Given the description of an element on the screen output the (x, y) to click on. 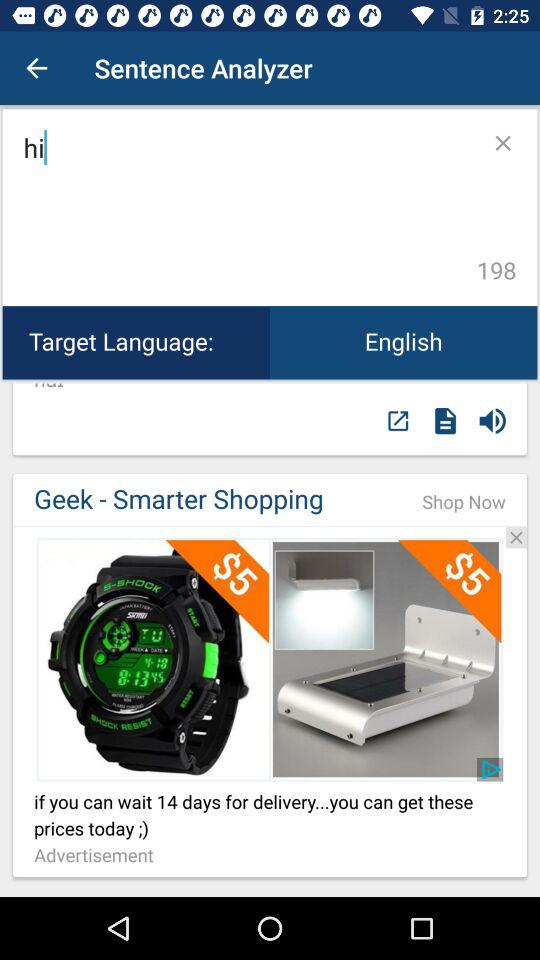
press the item next to sentence analyzer icon (36, 68)
